Given the description of an element on the screen output the (x, y) to click on. 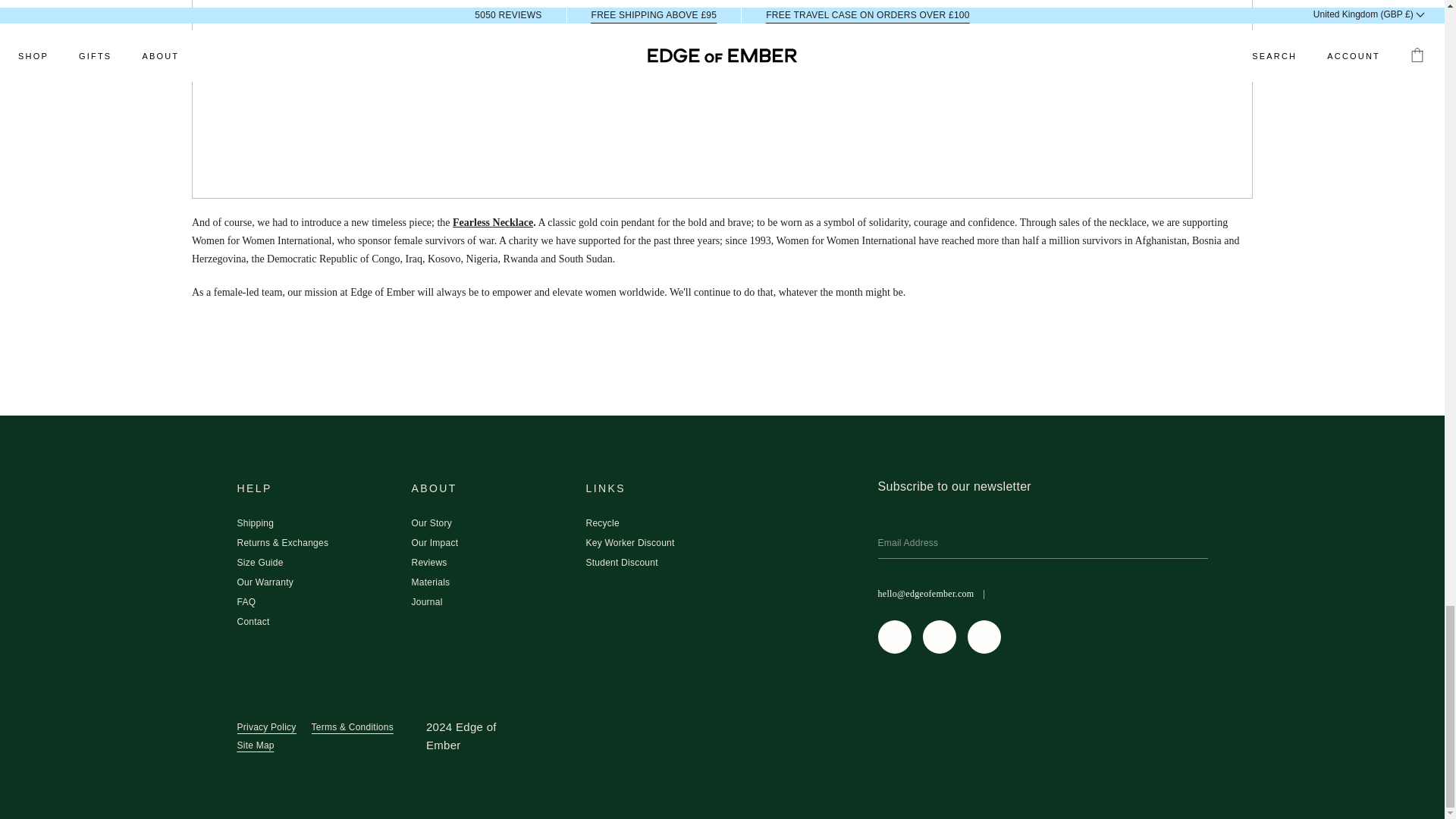
EDGE of EMBER on TikTok (984, 636)
EDGE of EMBER on Instagram (894, 636)
EDGE of EMBER on Facebook (938, 636)
